Given the description of an element on the screen output the (x, y) to click on. 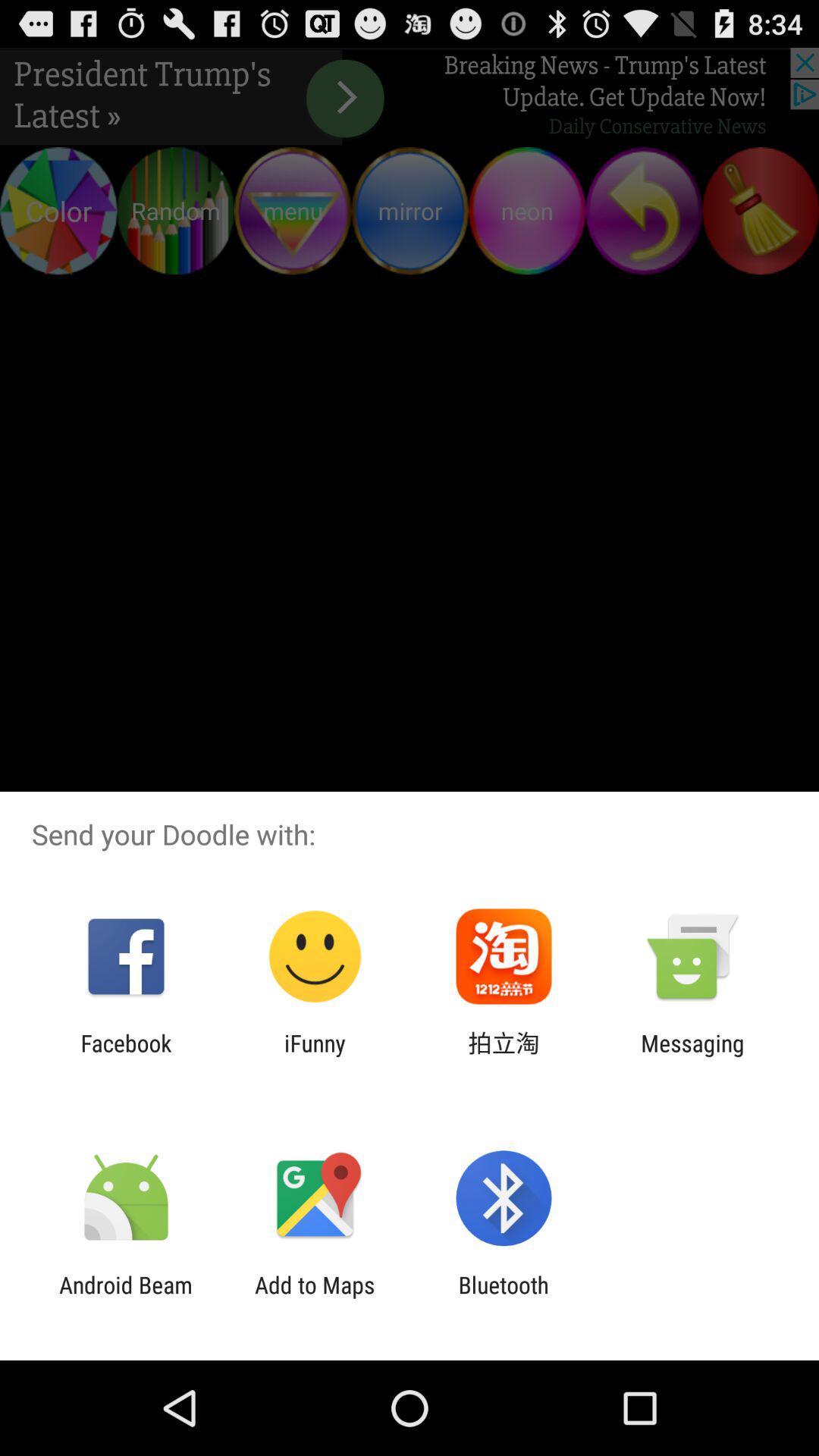
flip to the android beam app (125, 1298)
